Given the description of an element on the screen output the (x, y) to click on. 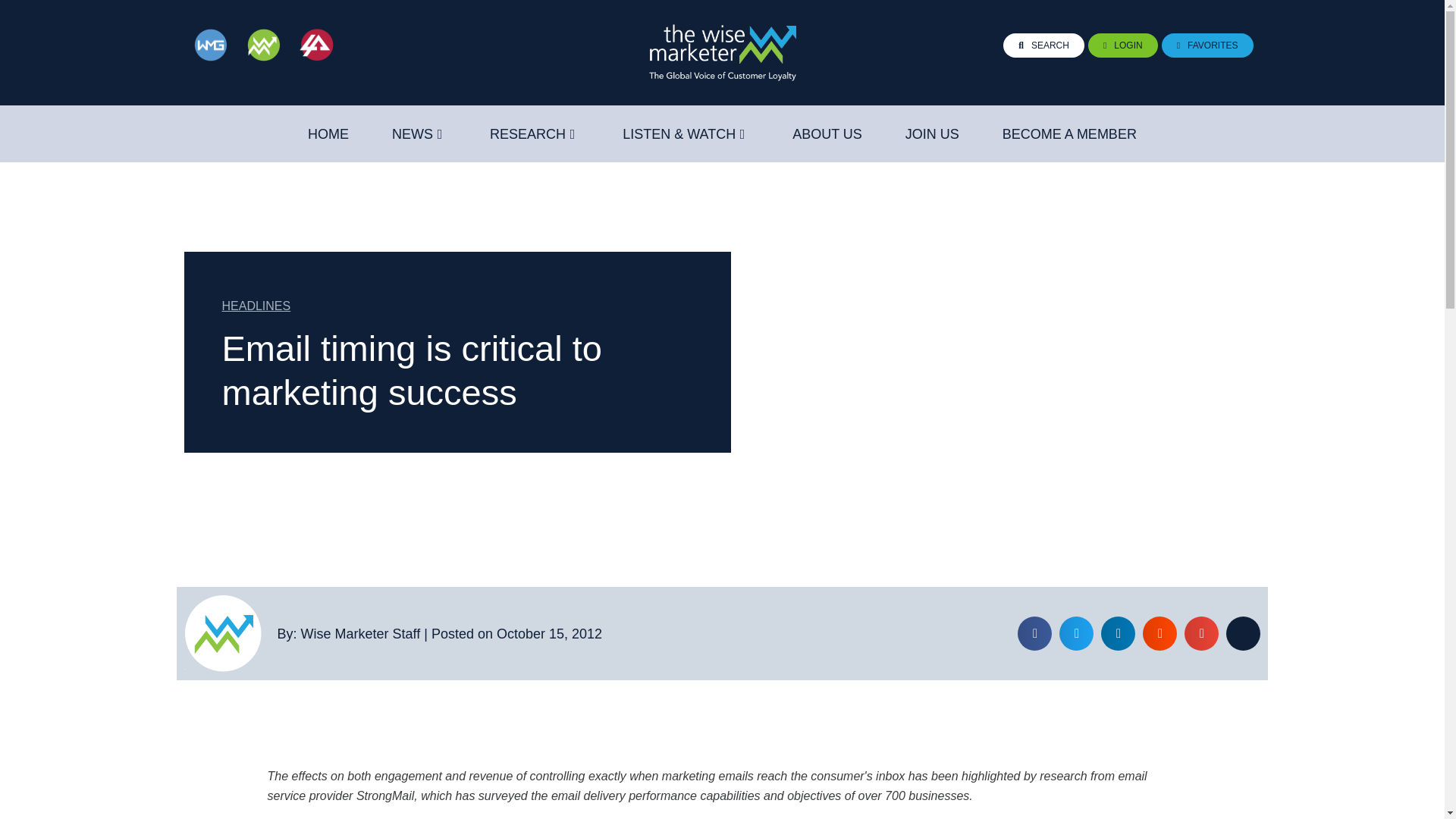
WM Circle Logo (222, 633)
LOGIN (1122, 45)
JOIN US (932, 134)
SEARCH (1043, 45)
BECOME A MEMBER (1070, 134)
NEWS (411, 134)
RESEARCH (527, 134)
FAVORITES (1207, 45)
ABOUT US (826, 134)
HOME (328, 134)
